Given the description of an element on the screen output the (x, y) to click on. 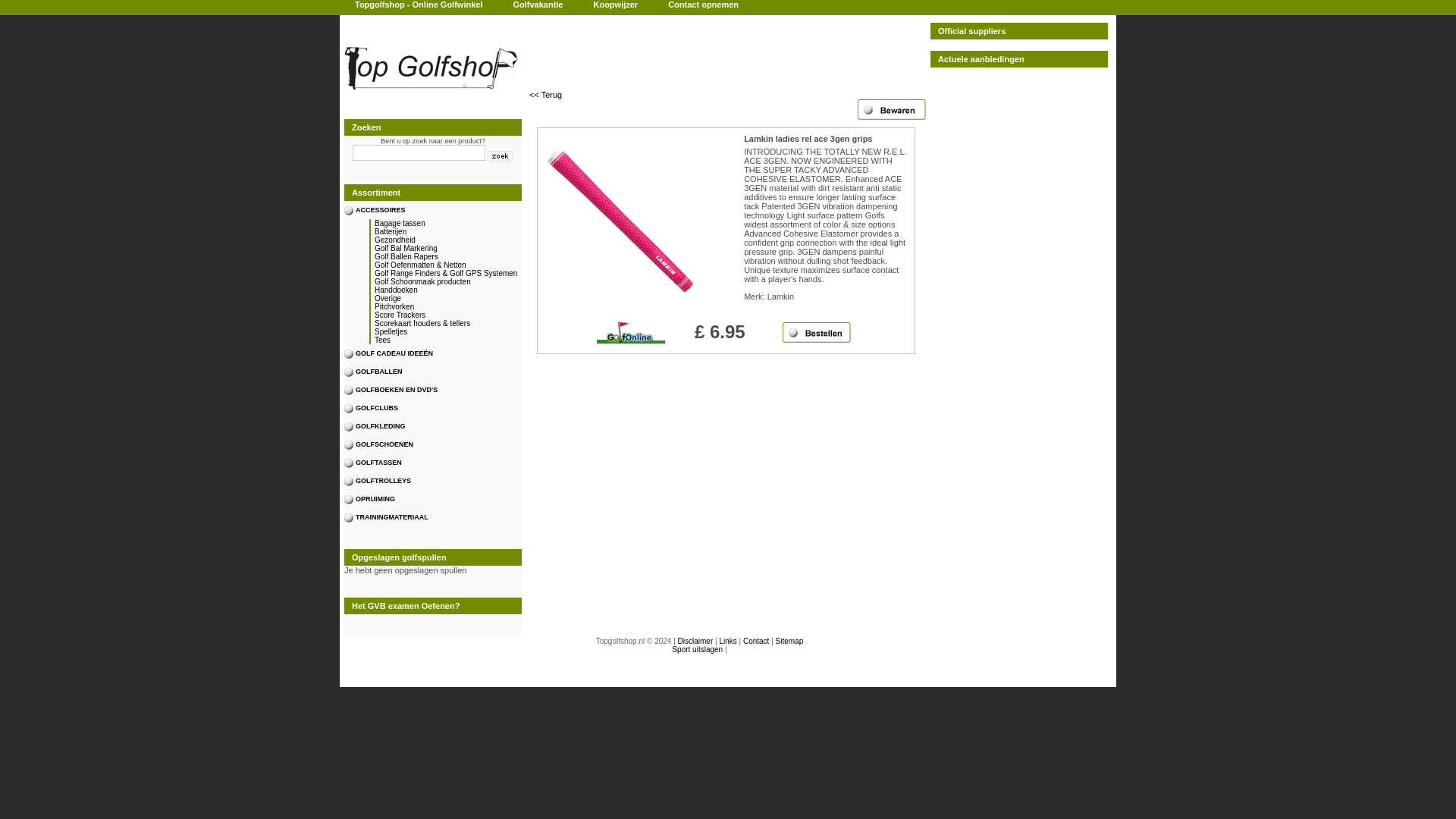
Bestel Nu (816, 332)
Bagage tassen (432, 223)
. (500, 155)
Topgolfshop - Online Golfwinkel (418, 4)
GOLFBALLEN (424, 371)
Tees (432, 339)
GOLFKLEDING (424, 425)
Golfclubs (424, 407)
GOLFSCHOENEN (424, 443)
TRAININGMATERIAAL (424, 516)
